Given the description of an element on the screen output the (x, y) to click on. 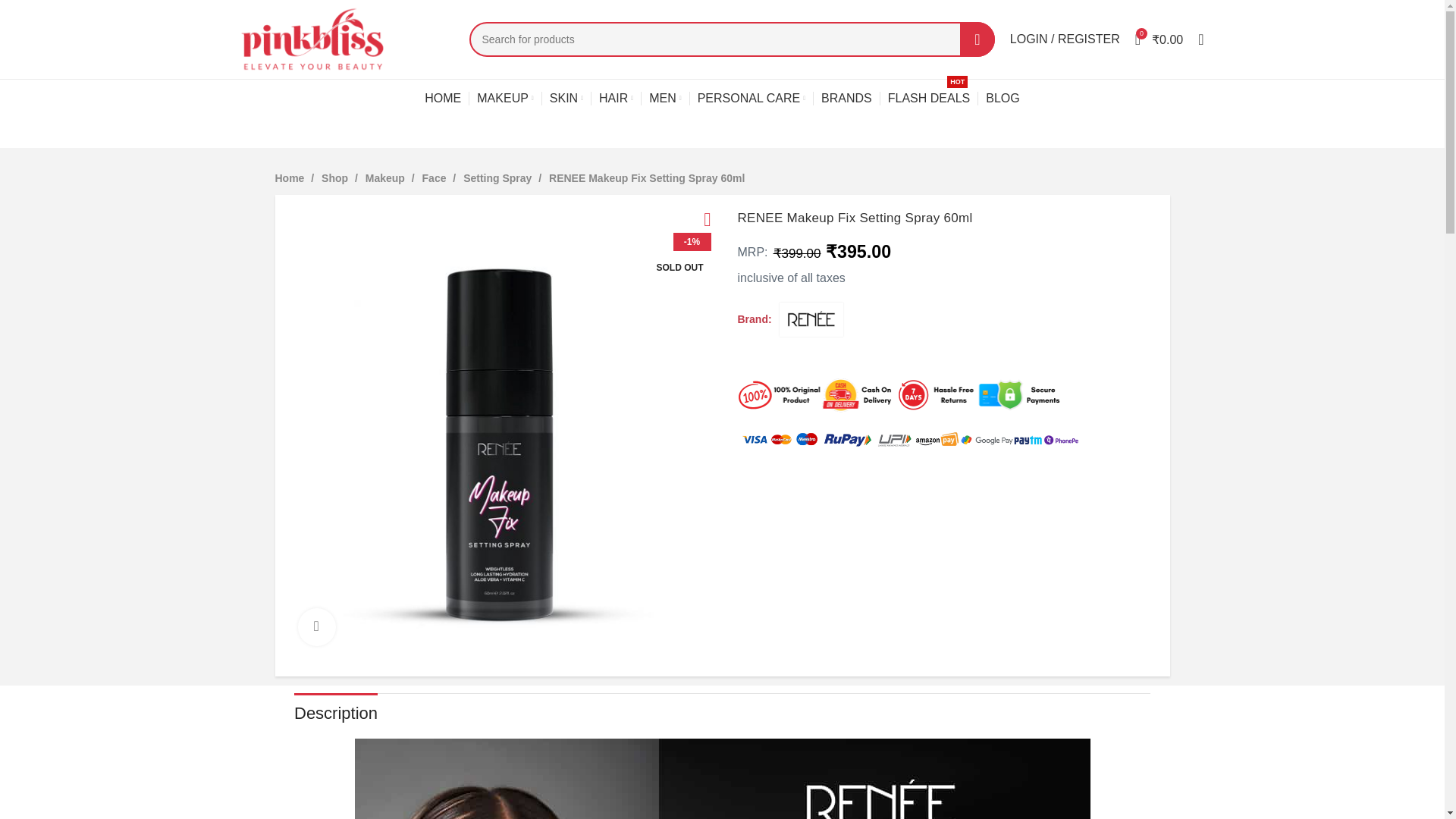
Search for products (731, 39)
RENEE (811, 319)
Shopping cart (1158, 39)
HOME (443, 98)
SEARCH (976, 39)
My account (1064, 39)
MAKEUP (505, 98)
